Given the description of an element on the screen output the (x, y) to click on. 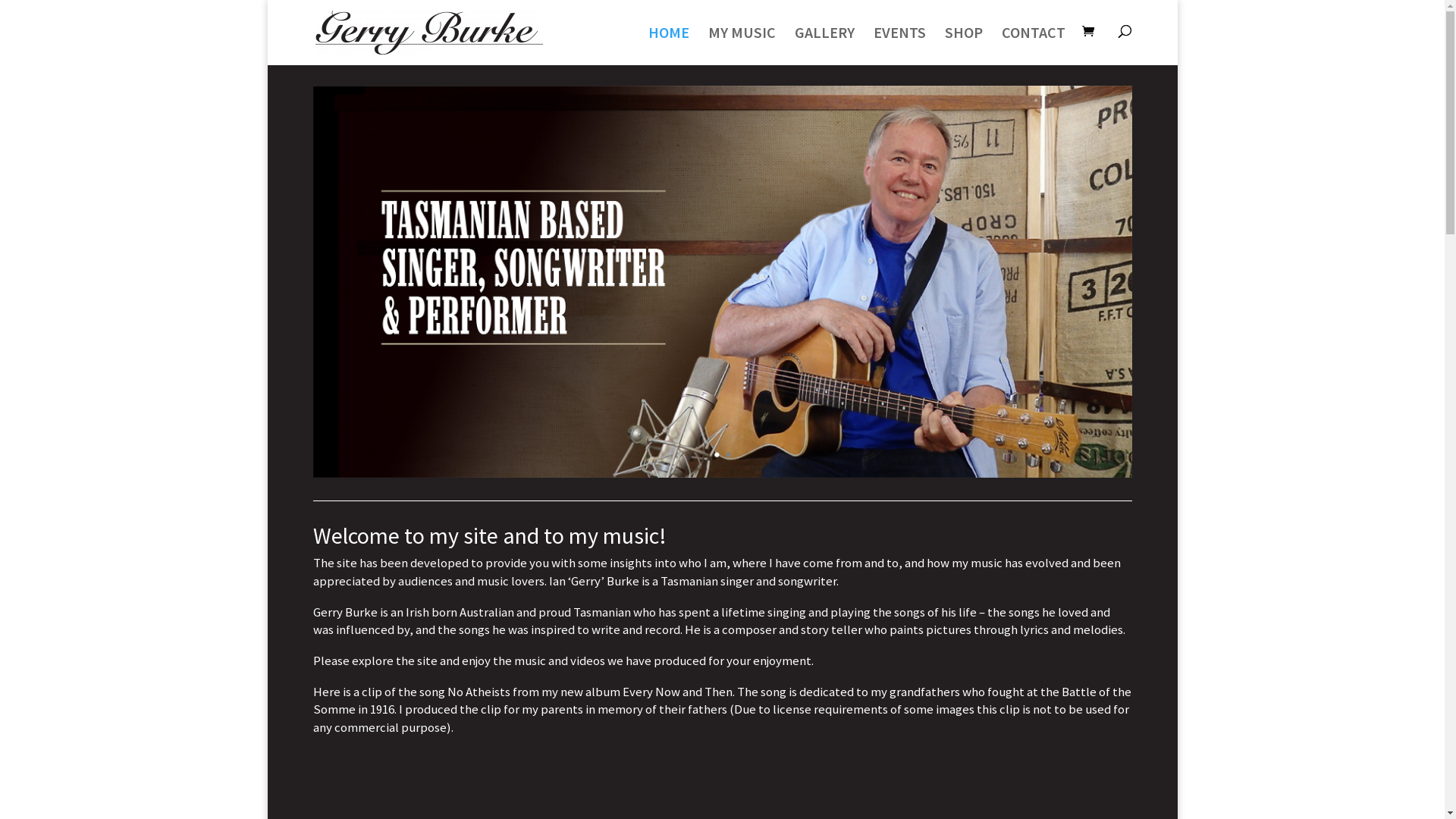
MY MUSIC Element type: text (741, 45)
HOME Element type: text (667, 45)
SHOP Element type: text (963, 45)
EVENTS Element type: text (899, 45)
CONTACT Element type: text (1032, 45)
GALLERY Element type: text (824, 45)
